Given the description of an element on the screen output the (x, y) to click on. 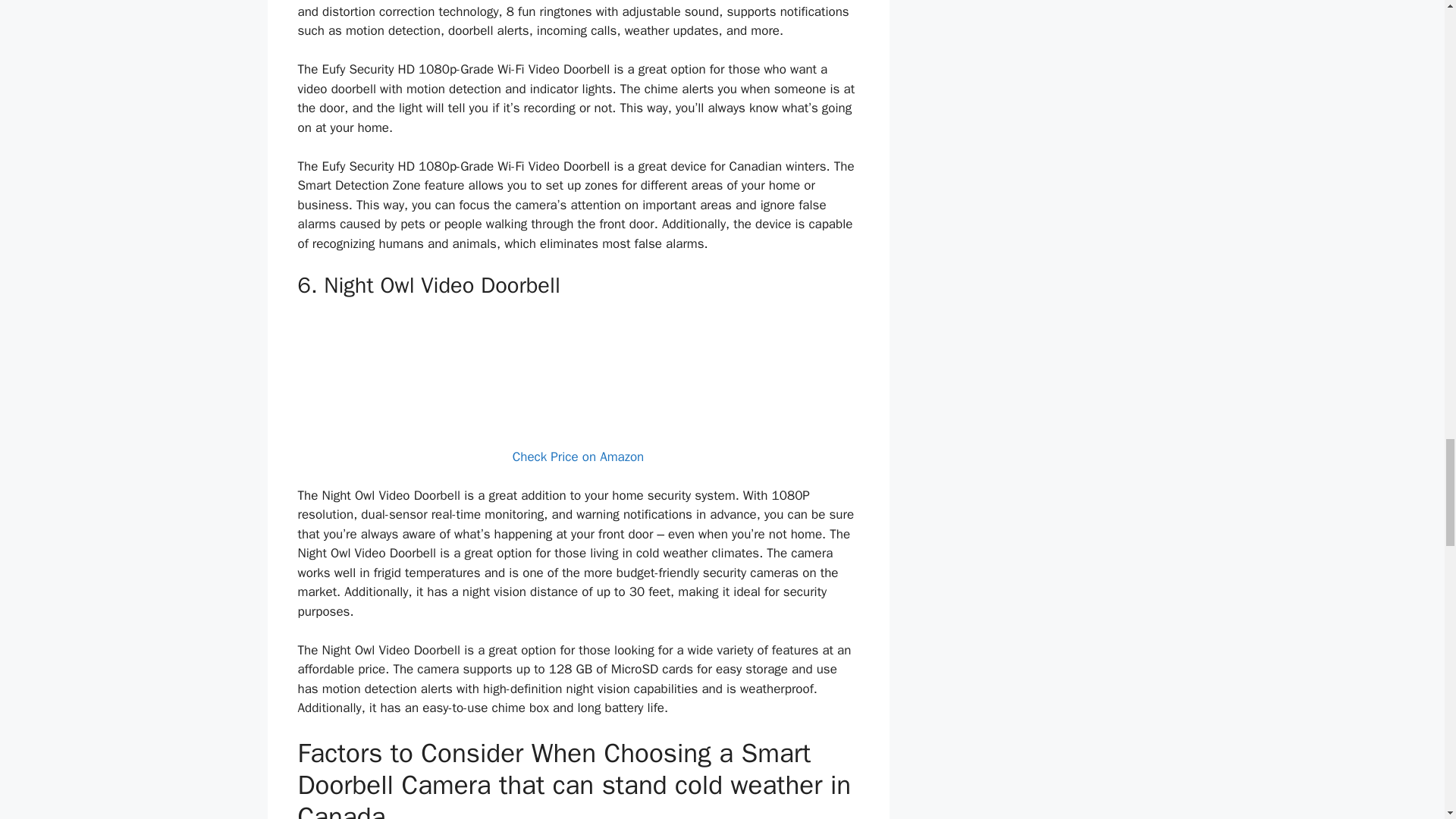
Check Price on Amazon (578, 456)
